Given the description of an element on the screen output the (x, y) to click on. 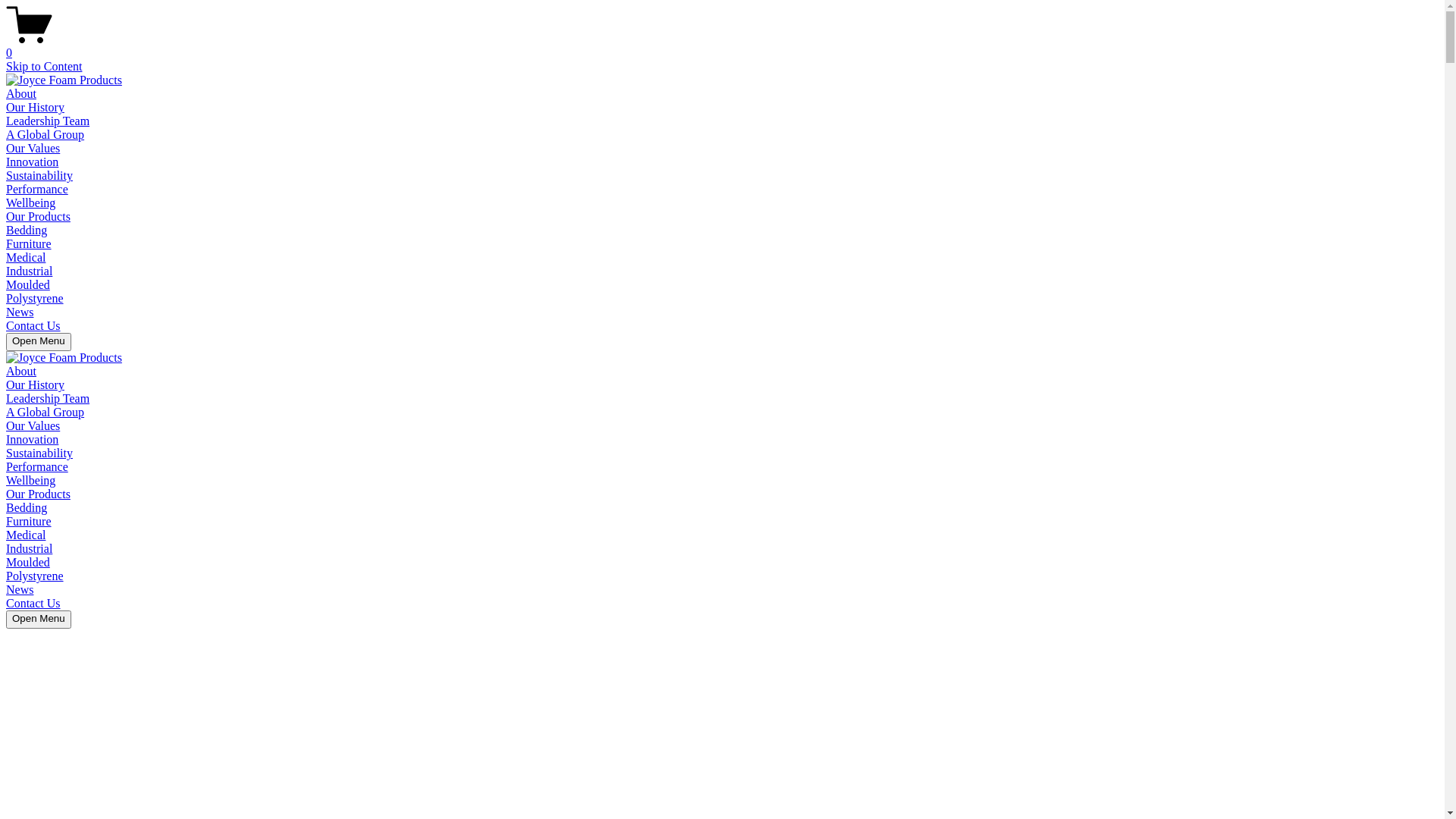
Leadership Team Element type: text (47, 398)
Leadership Team Element type: text (47, 120)
Wellbeing Element type: text (30, 479)
Bedding Element type: text (26, 229)
Sustainability Element type: text (39, 452)
Contact Us Element type: text (33, 602)
Furniture Element type: text (28, 243)
0 Element type: text (722, 45)
Performance Element type: text (37, 466)
About Element type: text (21, 370)
Skip to Content Element type: text (43, 65)
Innovation Element type: text (32, 439)
Bedding Element type: text (26, 507)
Furniture Element type: text (28, 520)
Our Values Element type: text (32, 425)
Moulded Element type: text (28, 561)
Medical Element type: text (25, 534)
Our Products Element type: text (38, 216)
About Element type: text (21, 93)
Our Values Element type: text (32, 147)
Industrial Element type: text (29, 270)
Polystyrene Element type: text (34, 575)
Industrial Element type: text (29, 548)
Wellbeing Element type: text (30, 202)
Polystyrene Element type: text (34, 297)
Open Menu Element type: text (38, 619)
News Element type: text (19, 311)
Innovation Element type: text (32, 161)
Our History Element type: text (35, 106)
Medical Element type: text (25, 257)
Sustainability Element type: text (39, 175)
A Global Group Element type: text (45, 134)
News Element type: text (19, 589)
Open Menu Element type: text (38, 341)
A Global Group Element type: text (45, 411)
Moulded Element type: text (28, 284)
Our History Element type: text (35, 384)
Our Products Element type: text (38, 493)
Contact Us Element type: text (33, 325)
Performance Element type: text (37, 188)
